Given the description of an element on the screen output the (x, y) to click on. 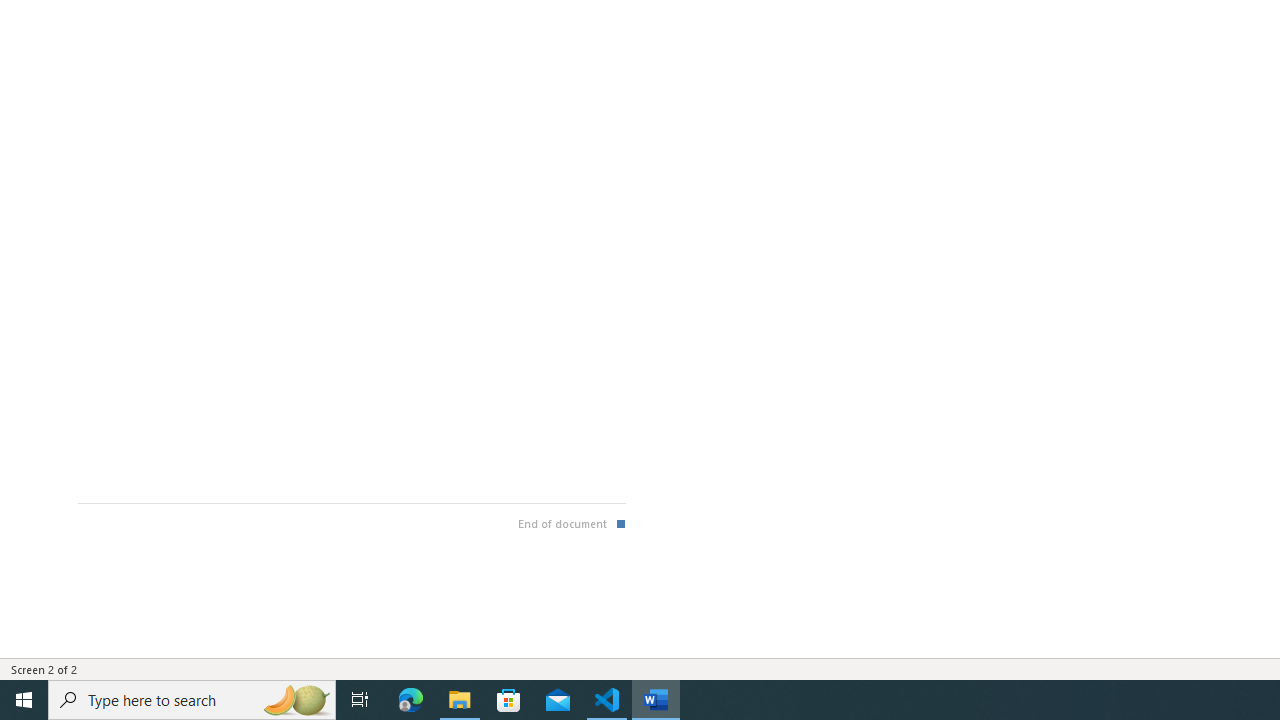
Page Number Screen 2 of 2  (44, 668)
